Given the description of an element on the screen output the (x, y) to click on. 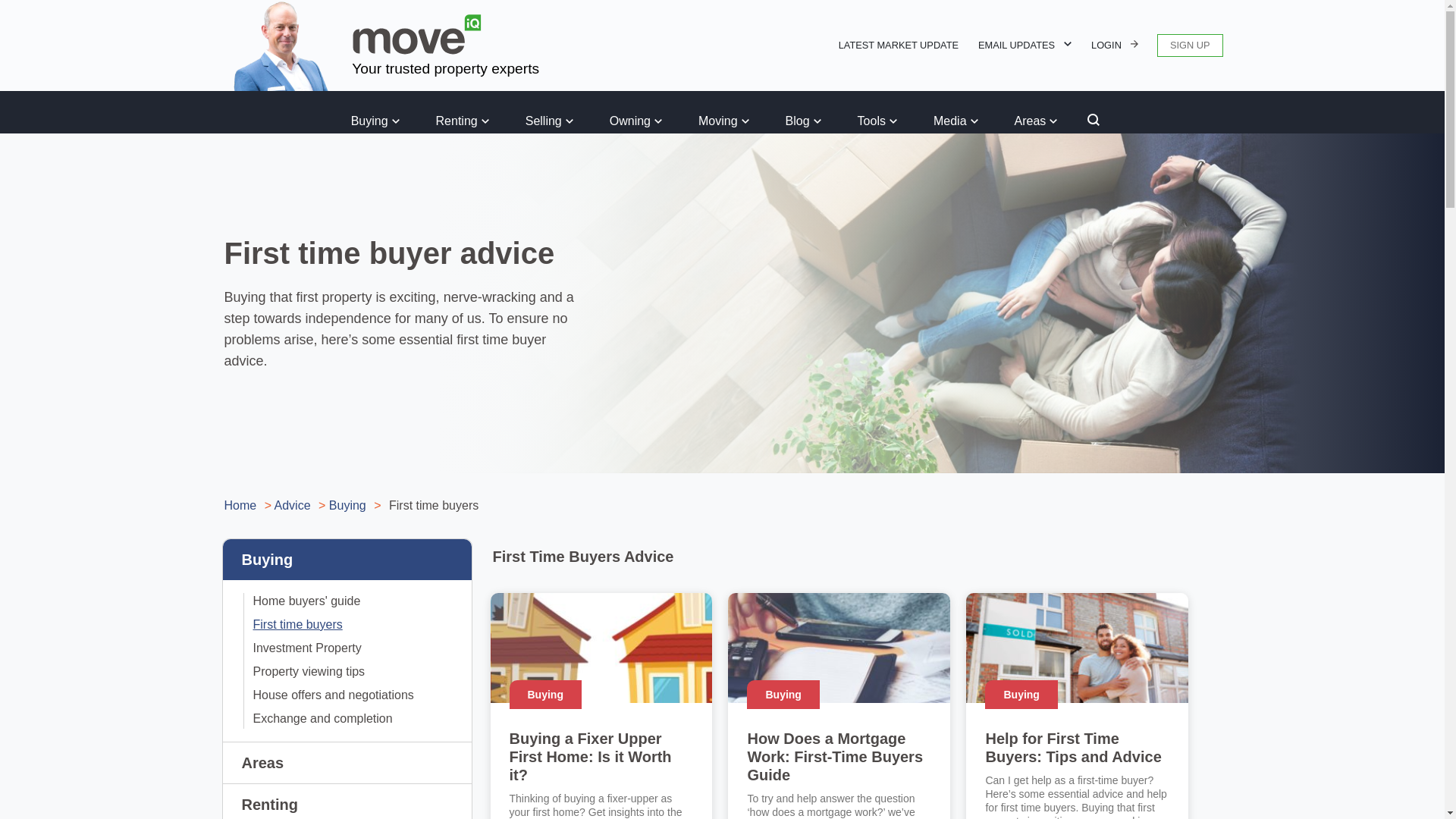
Buying (375, 120)
Go back to the homepage (277, 43)
EMAIL UPDATES (1023, 45)
SIGN UP (1190, 45)
LATEST MARKET UPDATE (898, 45)
LOGIN (1114, 45)
Go back to the homepage (416, 34)
